Given the description of an element on the screen output the (x, y) to click on. 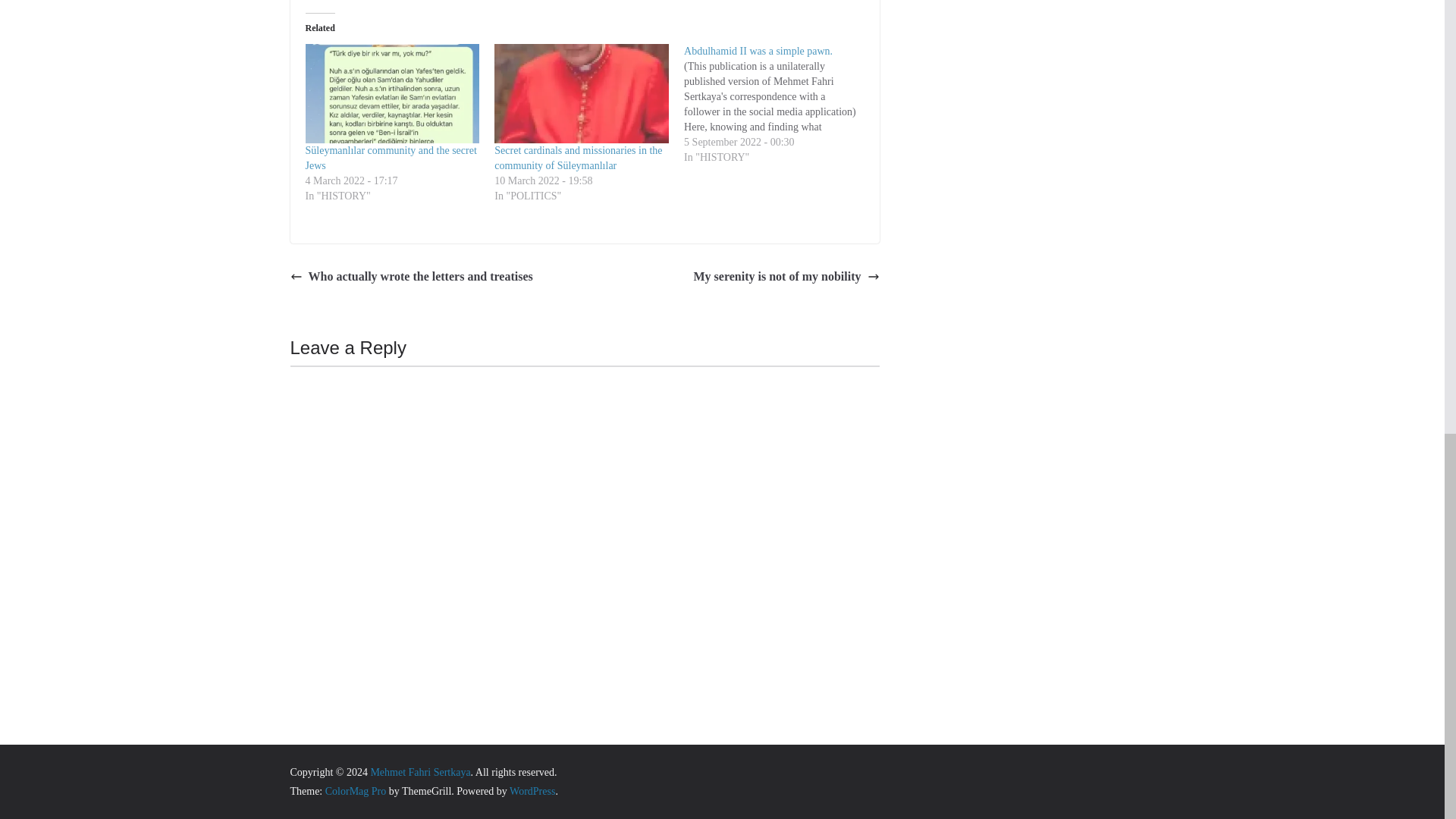
Who actually wrote the letters and treatises (410, 277)
My serenity is not of my nobility (786, 277)
Abdulhamid II was a simple pawn. (758, 50)
